Given the description of an element on the screen output the (x, y) to click on. 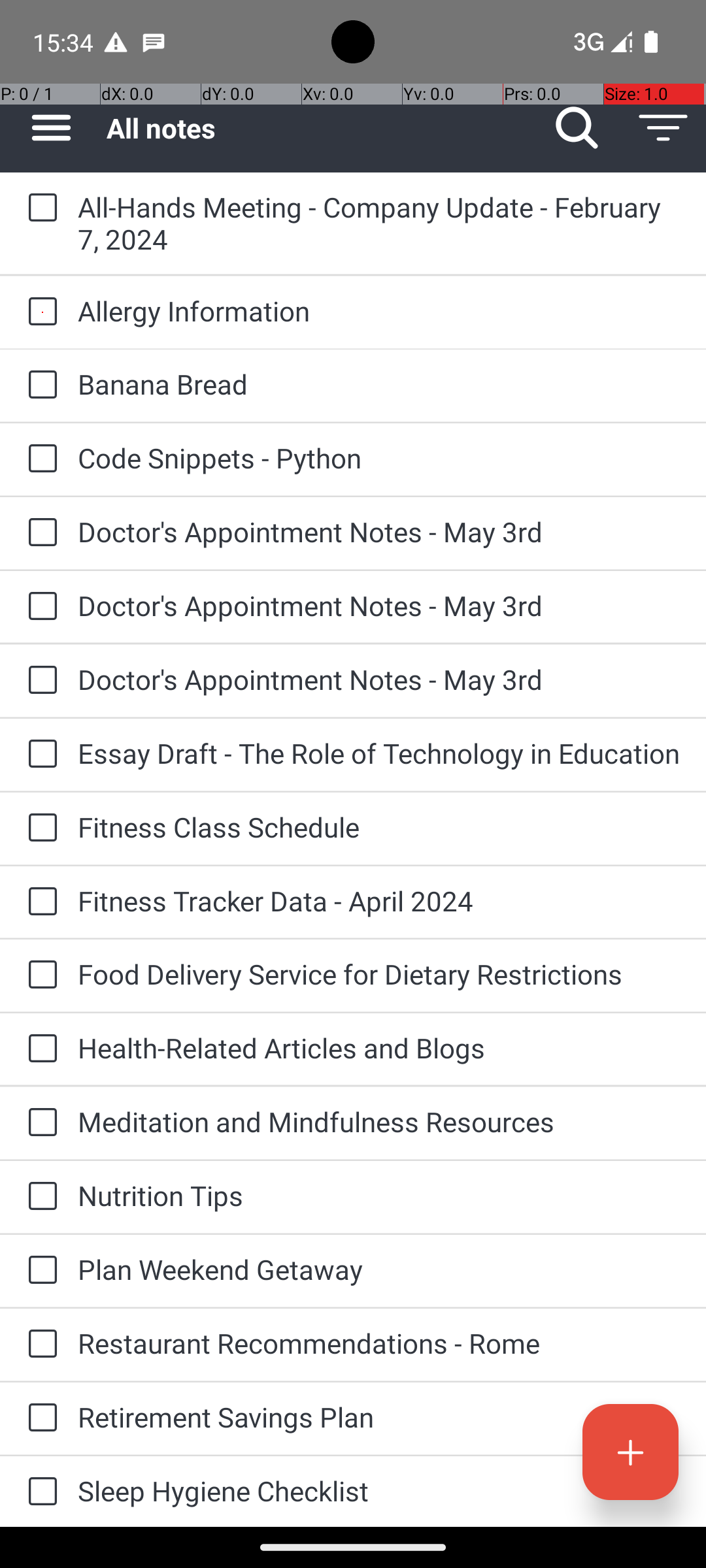
Sidebar Element type: android.widget.Button (44, 127)
All notes Element type: android.widget.TextView (320, 127)
Sort notes by Element type: android.widget.Button (663, 127)
Add new, collapsed Element type: android.widget.Button (630, 1452)
 Element type: android.widget.TextView (51, 127)
 Element type: android.widget.TextView (576, 127)
 Element type: android.widget.TextView (663, 127)
 Element type: android.widget.TextView (630, 1451)
to-do: All-Hands Meeting - Company Update - February 7, 2024 Element type: android.widget.CheckBox (38, 208)
All-Hands Meeting - Company Update - February 7, 2024 Element type: android.widget.TextView (378, 222)
to-do: Allergy Information Element type: android.widget.CheckBox (38, 312)
Allergy Information Element type: android.widget.TextView (378, 310)
to-do: Banana Bread Element type: android.widget.CheckBox (38, 385)
Banana Bread Element type: android.widget.TextView (378, 383)
to-do: Code Snippets - Python Element type: android.widget.CheckBox (38, 459)
Code Snippets - Python Element type: android.widget.TextView (378, 457)
to-do: Doctor's Appointment Notes - May 3rd Element type: android.widget.CheckBox (38, 533)
Doctor's Appointment Notes - May 3rd Element type: android.widget.TextView (378, 531)
to-do: Essay Draft - The Role of Technology in Education Element type: android.widget.CheckBox (38, 754)
Essay Draft - The Role of Technology in Education Element type: android.widget.TextView (378, 752)
to-do: Fitness Class Schedule Element type: android.widget.CheckBox (38, 828)
Fitness Class Schedule Element type: android.widget.TextView (378, 826)
to-do: Fitness Tracker Data - April 2024 Element type: android.widget.CheckBox (38, 902)
Fitness Tracker Data - April 2024 Element type: android.widget.TextView (378, 900)
to-do: Food Delivery Service for Dietary Restrictions Element type: android.widget.CheckBox (38, 975)
Food Delivery Service for Dietary Restrictions Element type: android.widget.TextView (378, 973)
to-do: Health-Related Articles and Blogs Element type: android.widget.CheckBox (38, 1049)
Health-Related Articles and Blogs Element type: android.widget.TextView (378, 1047)
to-do: Meditation and Mindfulness Resources Element type: android.widget.CheckBox (38, 1123)
Meditation and Mindfulness Resources Element type: android.widget.TextView (378, 1121)
to-do: Nutrition Tips Element type: android.widget.CheckBox (38, 1196)
Nutrition Tips Element type: android.widget.TextView (378, 1194)
to-do: Plan Weekend Getaway Element type: android.widget.CheckBox (38, 1270)
Plan Weekend Getaway Element type: android.widget.TextView (378, 1268)
to-do: Restaurant Recommendations - Rome Element type: android.widget.CheckBox (38, 1344)
Restaurant Recommendations - Rome Element type: android.widget.TextView (378, 1342)
to-do: Retirement Savings Plan Element type: android.widget.CheckBox (38, 1418)
Retirement Savings Plan Element type: android.widget.TextView (378, 1416)
to-do: Sleep Hygiene Checklist Element type: android.widget.CheckBox (38, 1491)
Sleep Hygiene Checklist Element type: android.widget.TextView (378, 1490)
